Given the description of an element on the screen output the (x, y) to click on. 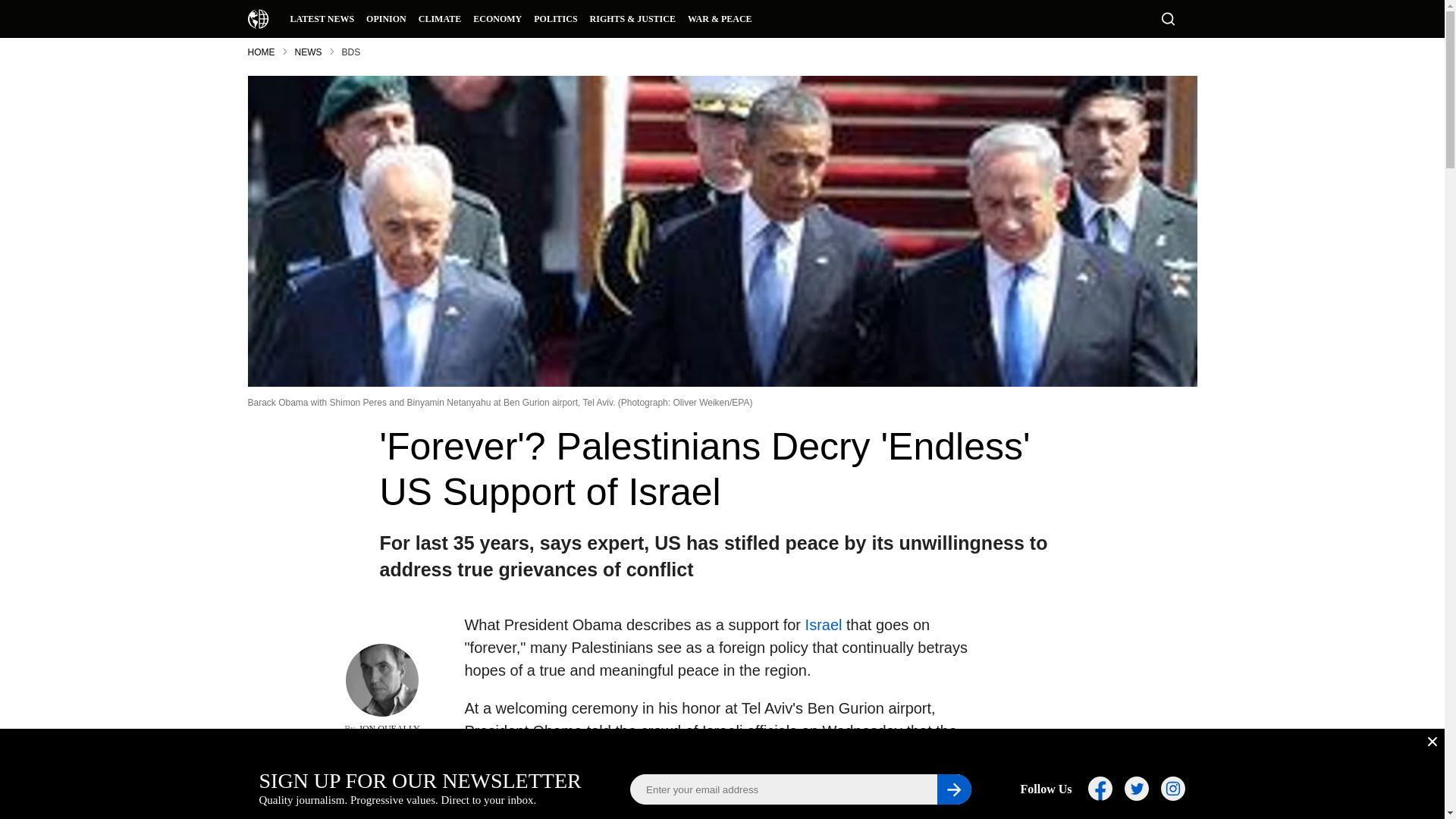
POLITICS (555, 18)
ECONOMY (497, 18)
LATEST NEWS (321, 18)
OPINION (385, 18)
Common Dreams (257, 17)
CLIMATE (439, 18)
